Given the description of an element on the screen output the (x, y) to click on. 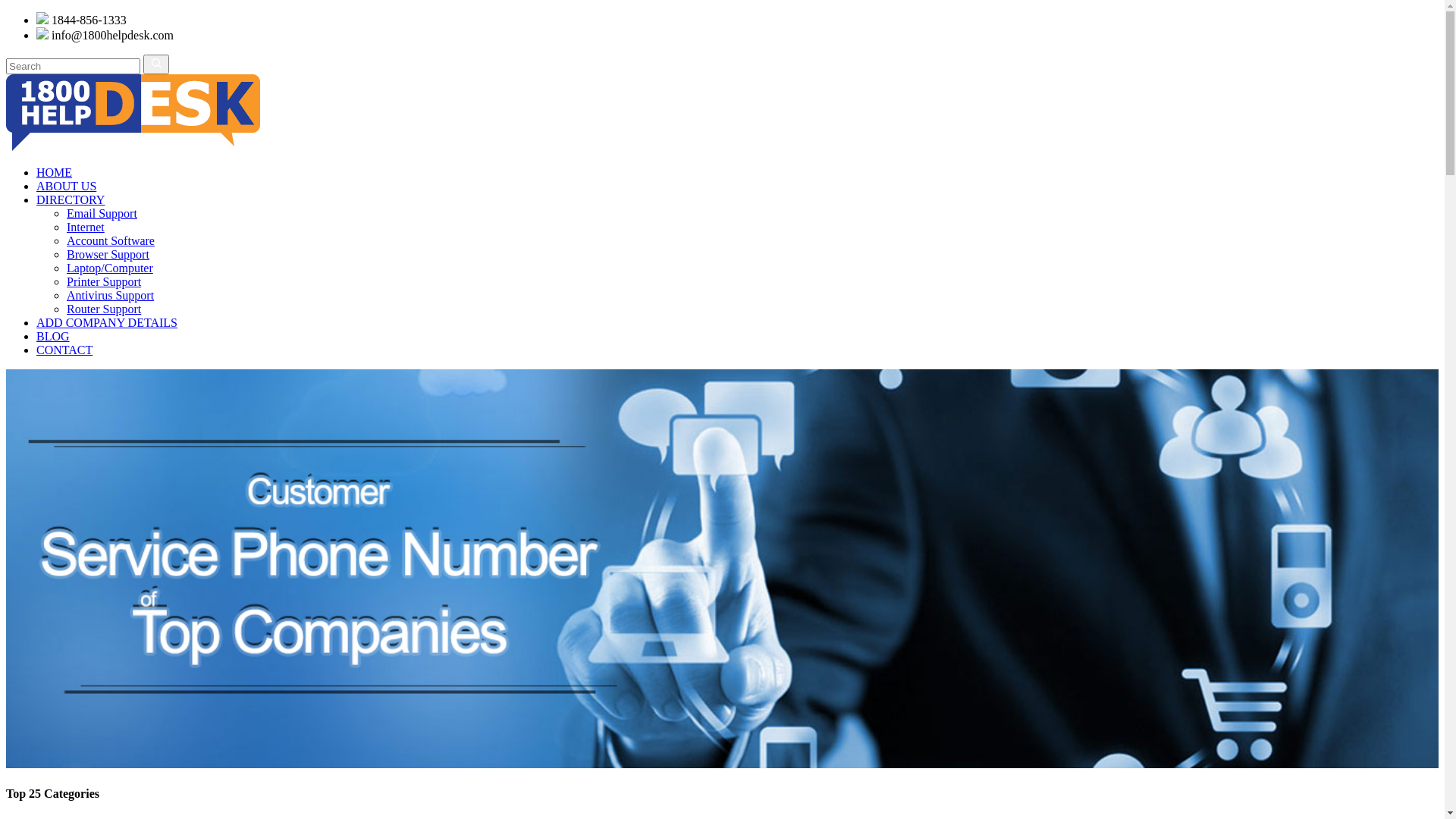
Printer Support Element type: text (103, 281)
Internet Element type: text (85, 226)
HOME Element type: text (54, 172)
Account Software Element type: text (110, 240)
Email Support Element type: text (101, 213)
BLOG Element type: text (52, 335)
Laptop/Computer Element type: text (109, 267)
Antivirus Support Element type: text (109, 294)
ADD COMPANY DETAILS Element type: text (106, 322)
CONTACT Element type: text (64, 349)
DIRECTORY Element type: text (70, 199)
Browser Support Element type: text (107, 253)
ABOUT US Element type: text (66, 185)
Router Support Element type: text (103, 308)
